Given the description of an element on the screen output the (x, y) to click on. 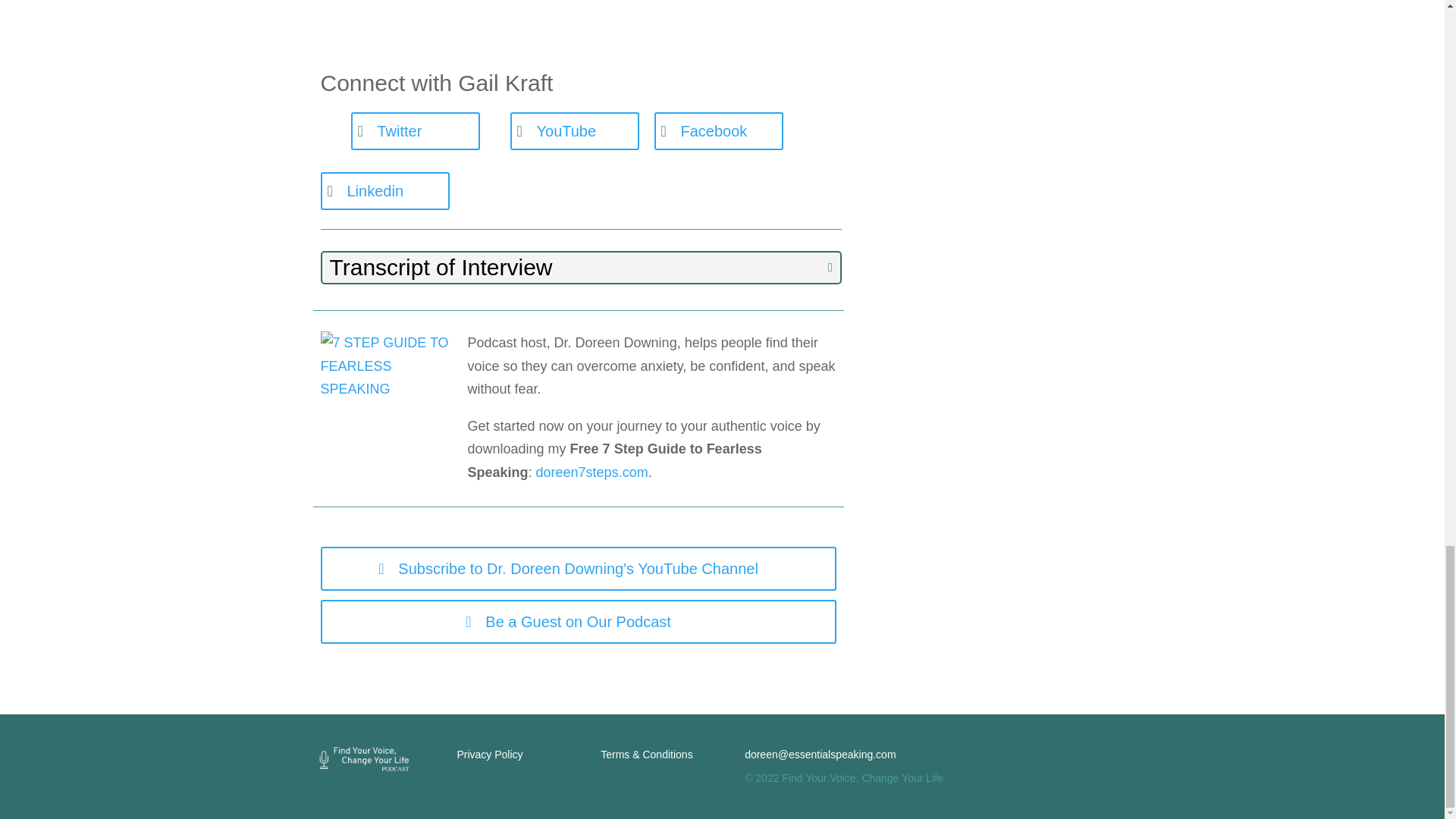
Twitter (414, 130)
YouTube (574, 130)
Be a Guest on Our Podcast (577, 621)
Subscribe to Dr. Doreen Downing's YouTube Channel (577, 568)
YouTube video player (580, 17)
doreen7steps.com (591, 472)
findyourvoice-logo-white (361, 757)
Facebook (718, 130)
Linkedin (384, 190)
